Given the description of an element on the screen output the (x, y) to click on. 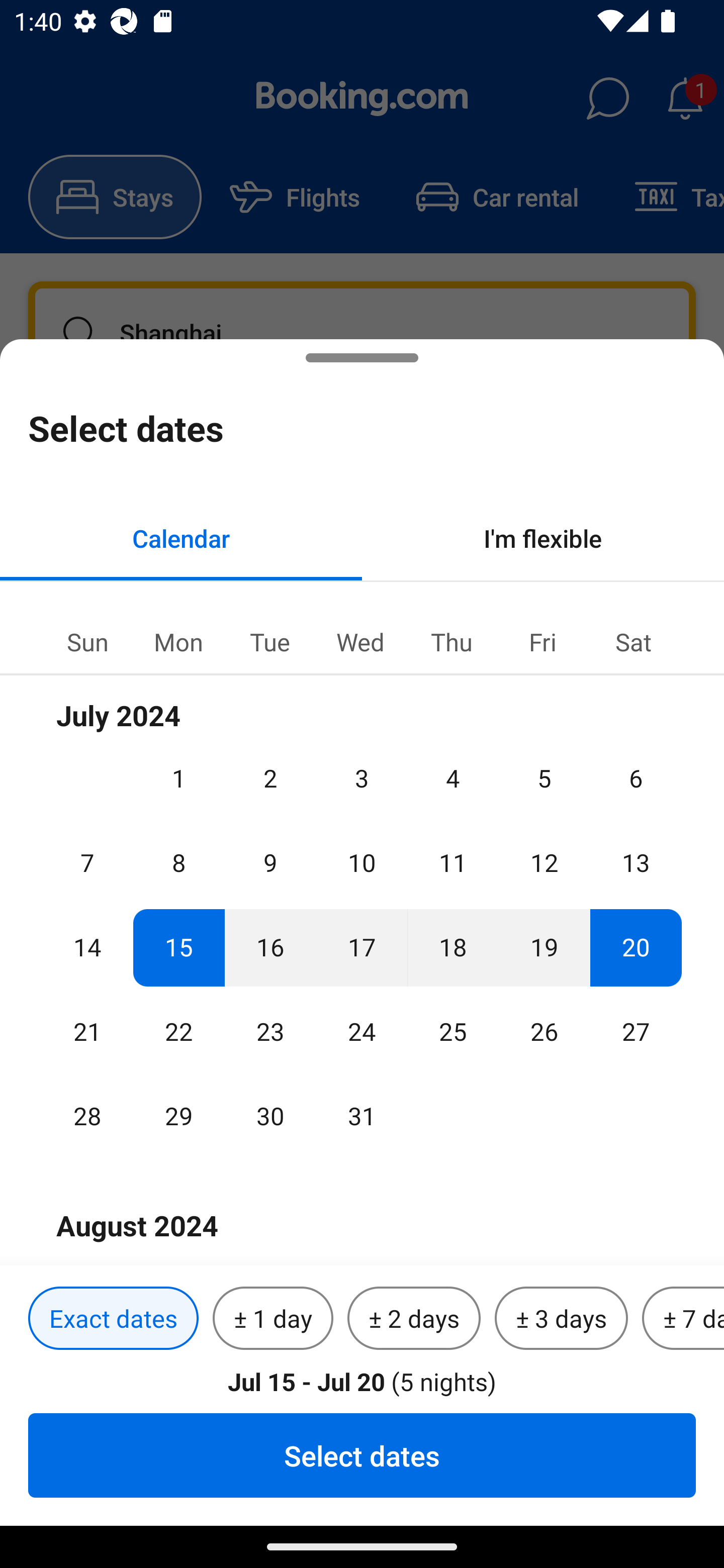
I'm flexible (543, 537)
Exact dates (113, 1318)
± 1 day (272, 1318)
± 2 days (413, 1318)
± 3 days (560, 1318)
± 7 days (683, 1318)
Select dates (361, 1454)
